Given the description of an element on the screen output the (x, y) to click on. 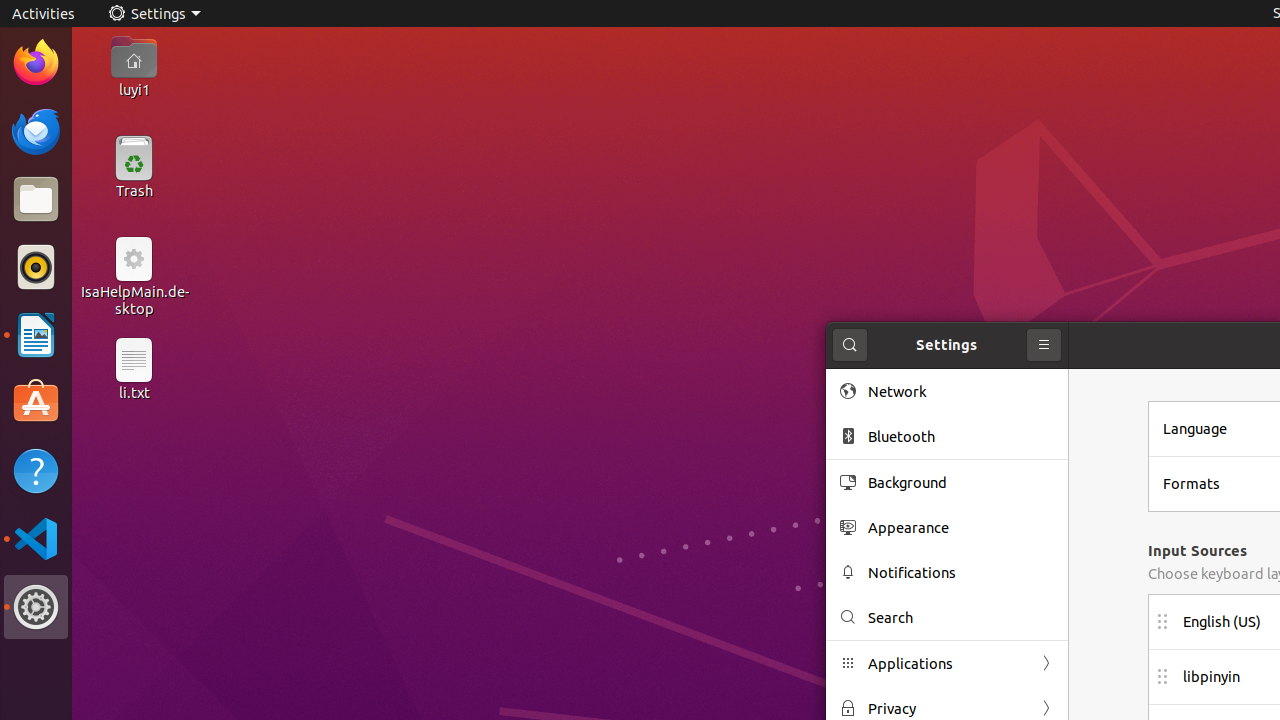
Primary Menu Element type: toggle-button (1044, 345)
